Given the description of an element on the screen output the (x, y) to click on. 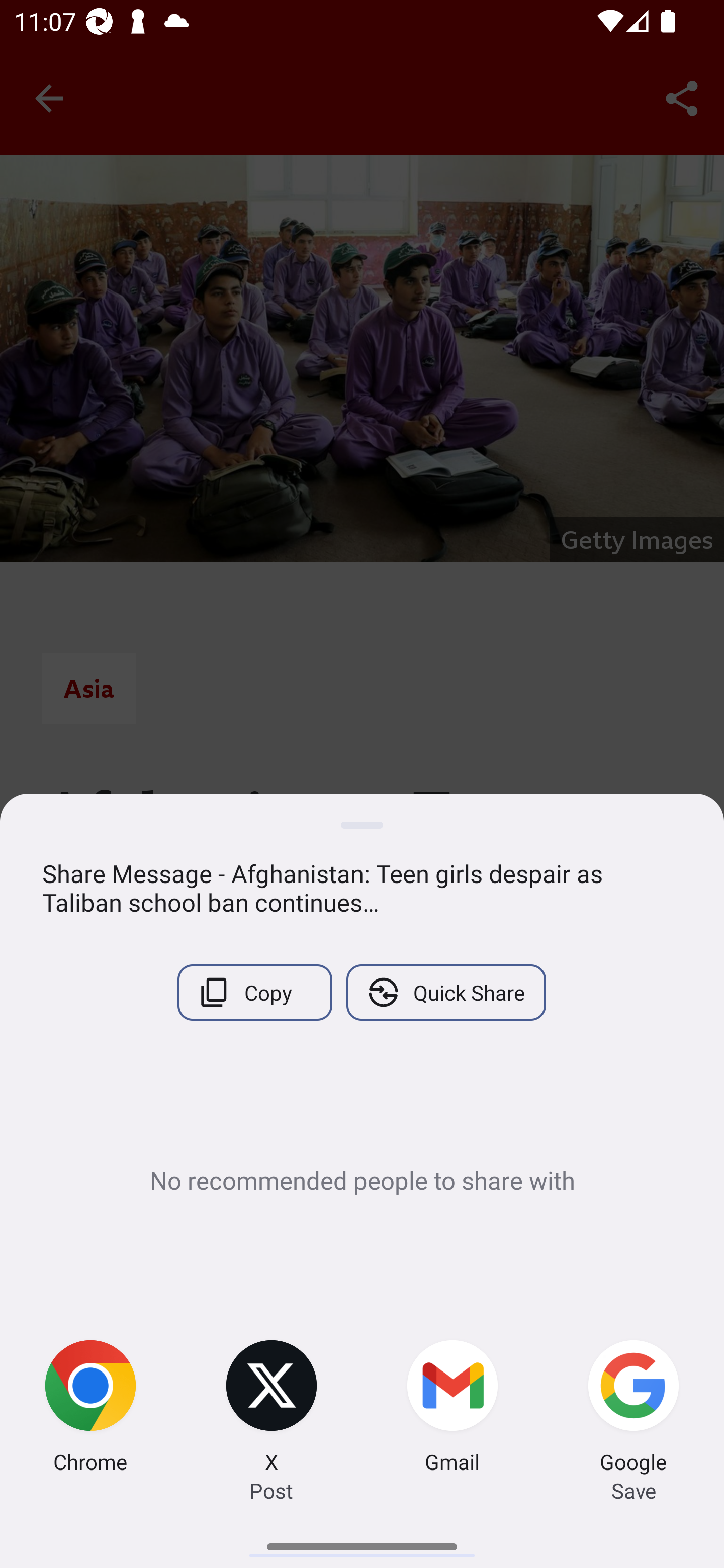
Copy (254, 992)
Quick Share (445, 992)
Chrome (90, 1409)
X Post (271, 1409)
Gmail (452, 1409)
Google Save (633, 1409)
